Given the description of an element on the screen output the (x, y) to click on. 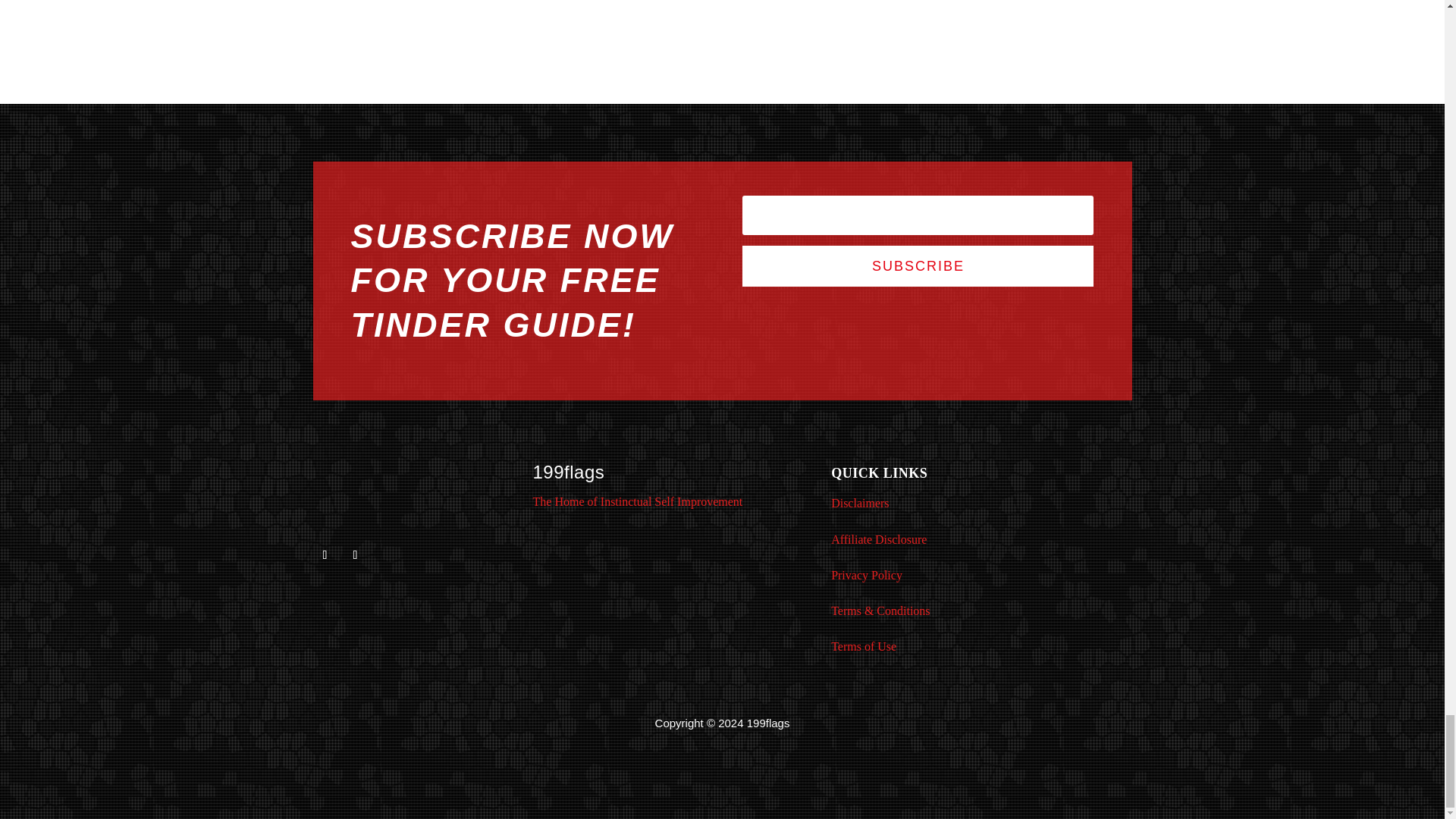
Follow on Pinterest (354, 554)
Follow on X (324, 554)
